Given the description of an element on the screen output the (x, y) to click on. 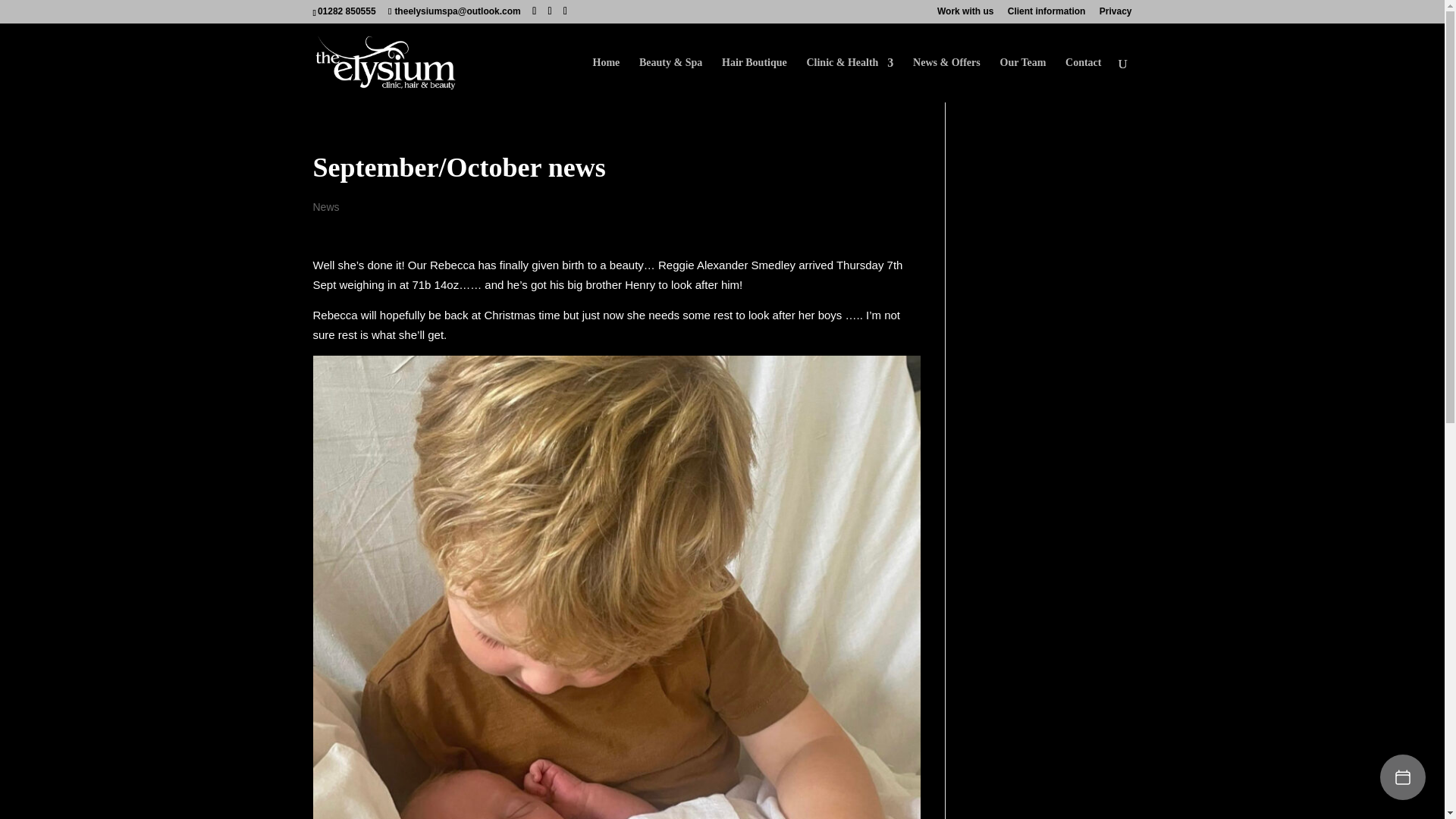
Our Team (1021, 79)
Work with us (964, 14)
Client information (1046, 14)
Privacy (1115, 14)
Hair Boutique (754, 79)
News (326, 206)
